Given the description of an element on the screen output the (x, y) to click on. 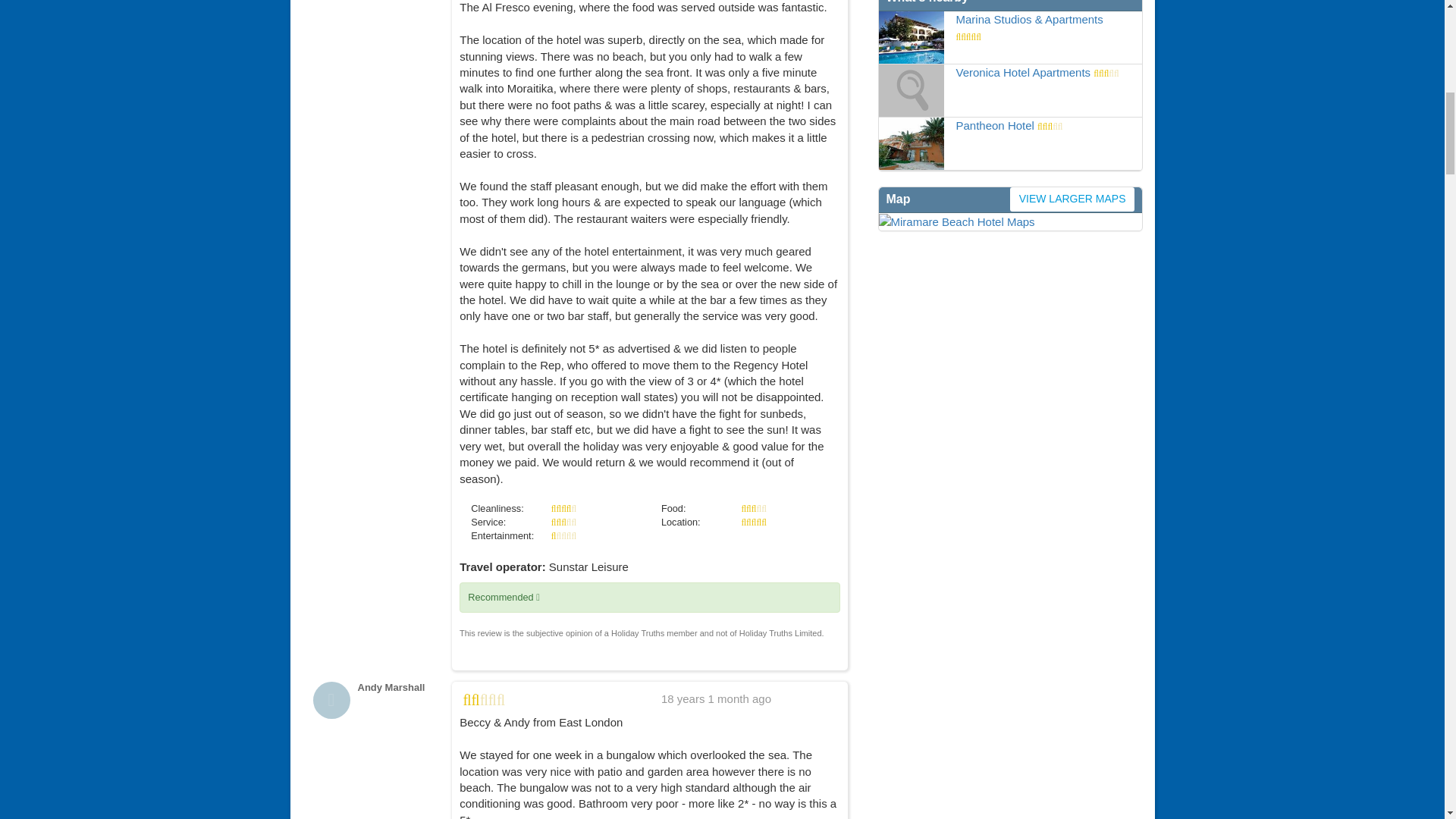
Veronica Hotel Apartments (1022, 72)
VIEW LARGER MAPS (1009, 221)
Good (753, 508)
Very Good (563, 508)
Good (563, 521)
Pantheon Hotel (994, 124)
Poor (563, 535)
Excellent (753, 521)
Average (484, 700)
